Given the description of an element on the screen output the (x, y) to click on. 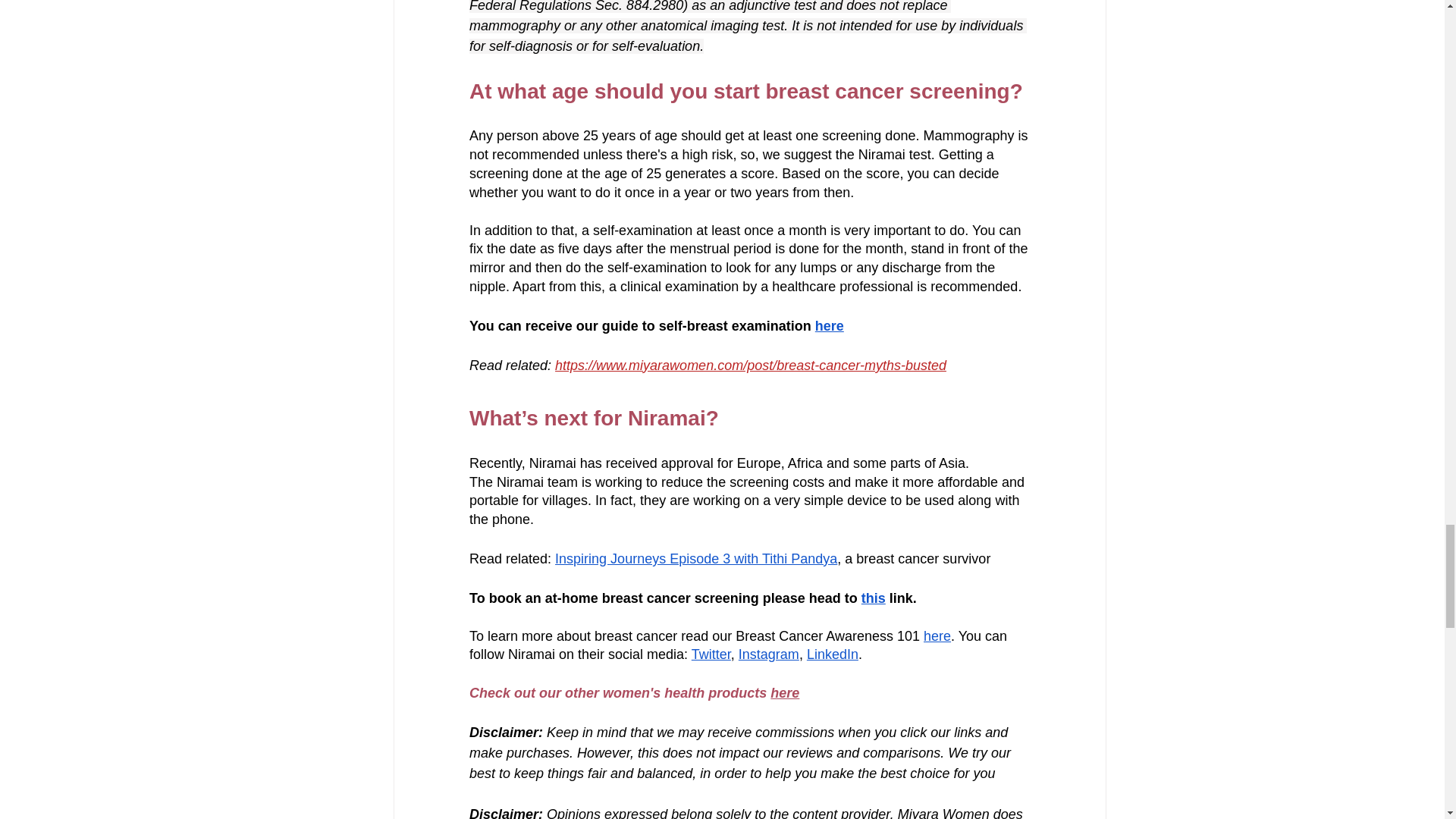
Twitter (710, 654)
Inspiring Journeys Episode 3 with Tithi Pandya (695, 558)
Instagram (767, 654)
here (828, 324)
this (872, 597)
here (784, 693)
LinkedIn (831, 654)
here (936, 635)
